Given the description of an element on the screen output the (x, y) to click on. 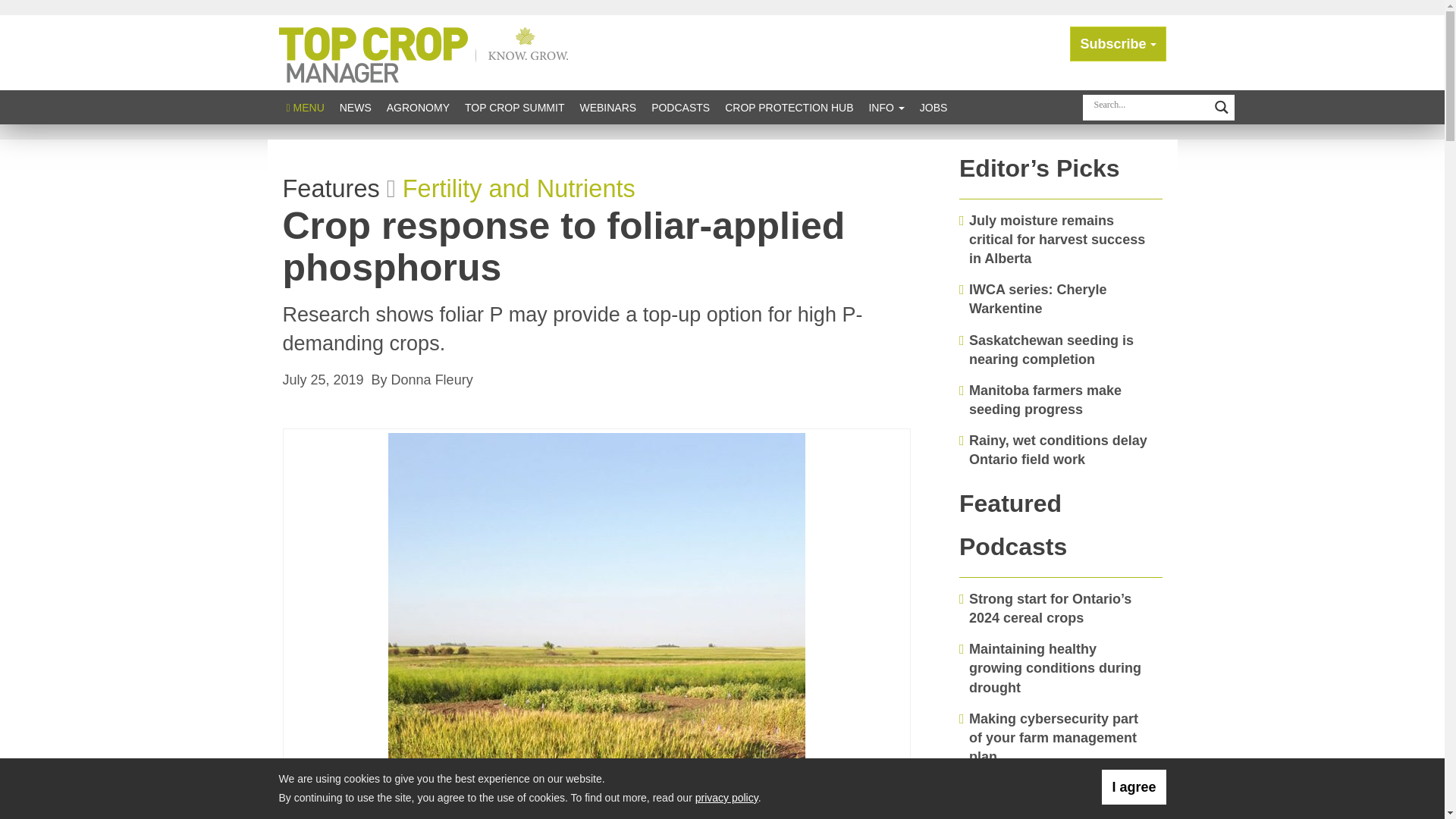
WEBINARS (607, 107)
Click to show site navigation (305, 107)
NEWS (354, 107)
AGRONOMY (417, 107)
Top Crop Manager (427, 51)
INFO (885, 107)
PODCASTS (680, 107)
Subscribe (1118, 43)
CROP PROTECTION HUB (788, 107)
TOP CROP SUMMIT (514, 107)
MENU (305, 107)
JOBS (933, 107)
